Given the description of an element on the screen output the (x, y) to click on. 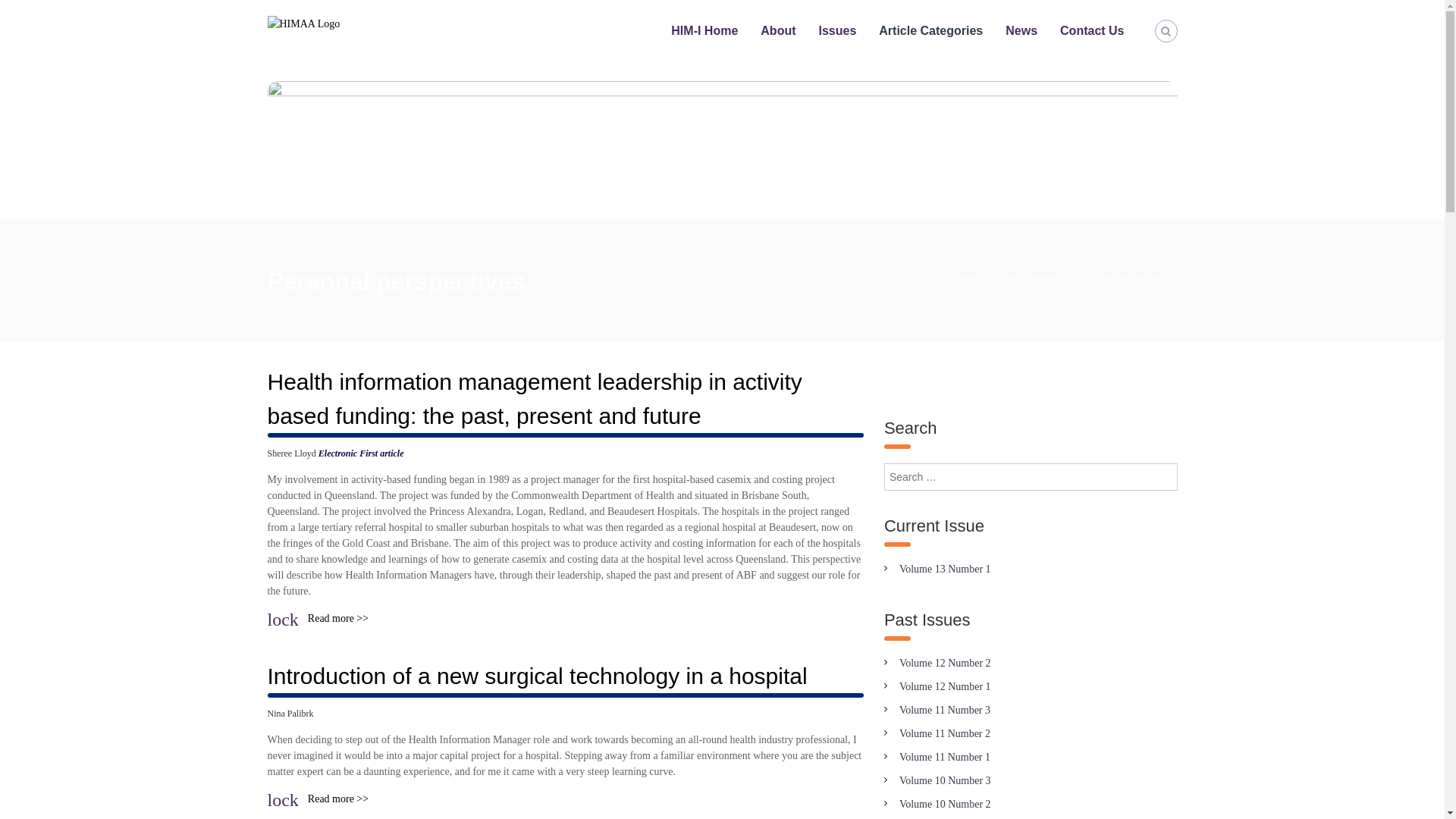
Read more >> Element type: text (337, 798)
Introduction of a new surgical technology in a hospital  Element type: text (539, 675)
Contact Us Element type: text (1091, 30)
Volume 12 Number 2 Element type: text (945, 662)
News Element type: text (1021, 30)
Volume 10 Number 3 Element type: text (945, 780)
Issues Element type: text (837, 30)
Volume 10 Number 2 Element type: text (945, 803)
Read more >> Element type: text (337, 618)
Article Categories Element type: text (930, 30)
Search for: Element type: hover (1030, 476)
Volume 13 Number 1 Element type: text (945, 568)
About Element type: text (777, 30)
Volume 11 Number 3 Element type: text (944, 709)
Article Categories Element type: text (1033, 276)
HIM-I Home Element type: text (704, 30)
Home Element type: text (967, 276)
Volume 11 Number 1 Element type: text (944, 756)
Volume 11 Number 2 Element type: text (944, 733)
Volume 12 Number 1 Element type: text (945, 686)
